Given the description of an element on the screen output the (x, y) to click on. 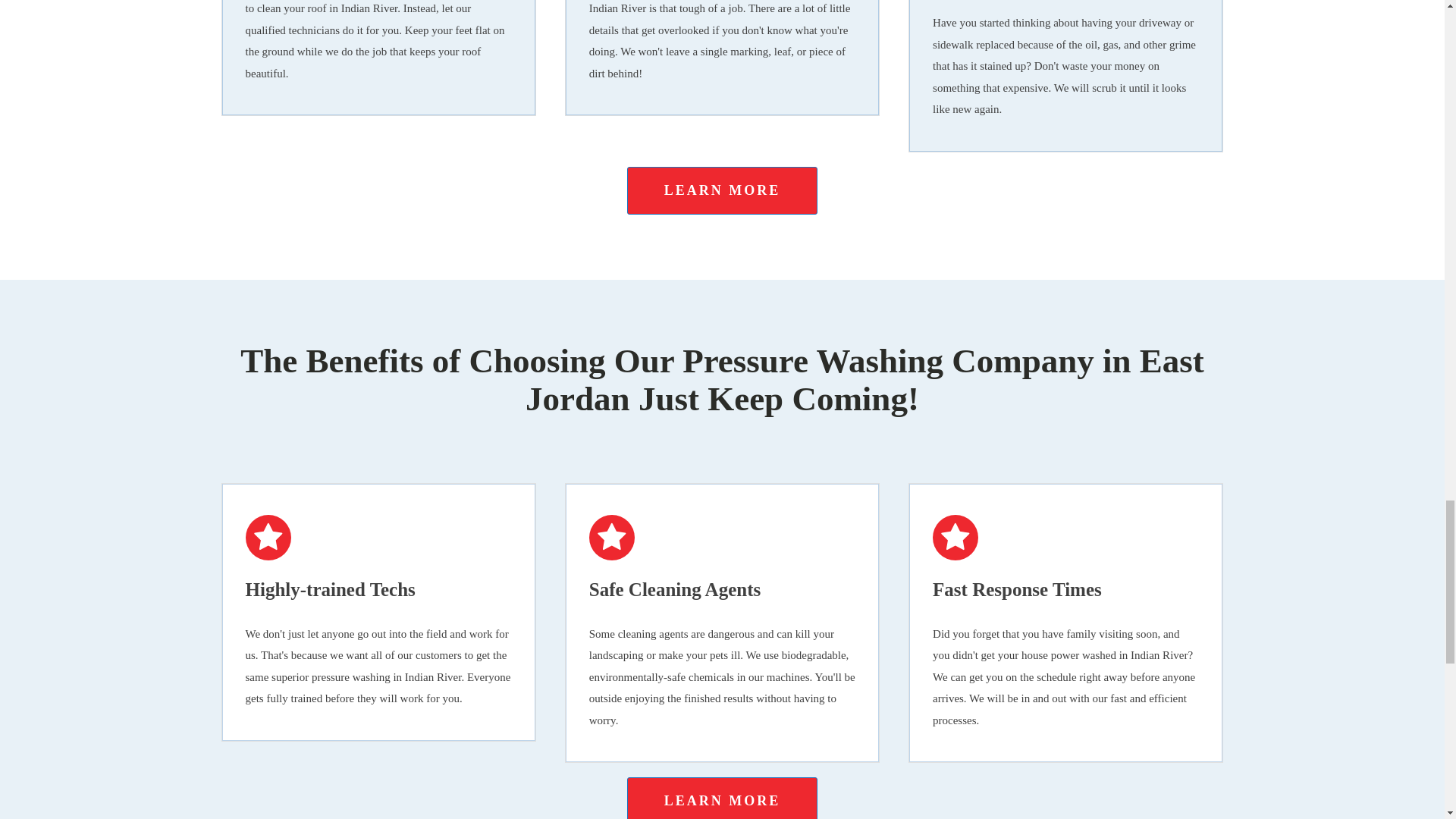
LEARN MORE (722, 798)
LEARN MORE (722, 191)
